Given the description of an element on the screen output the (x, y) to click on. 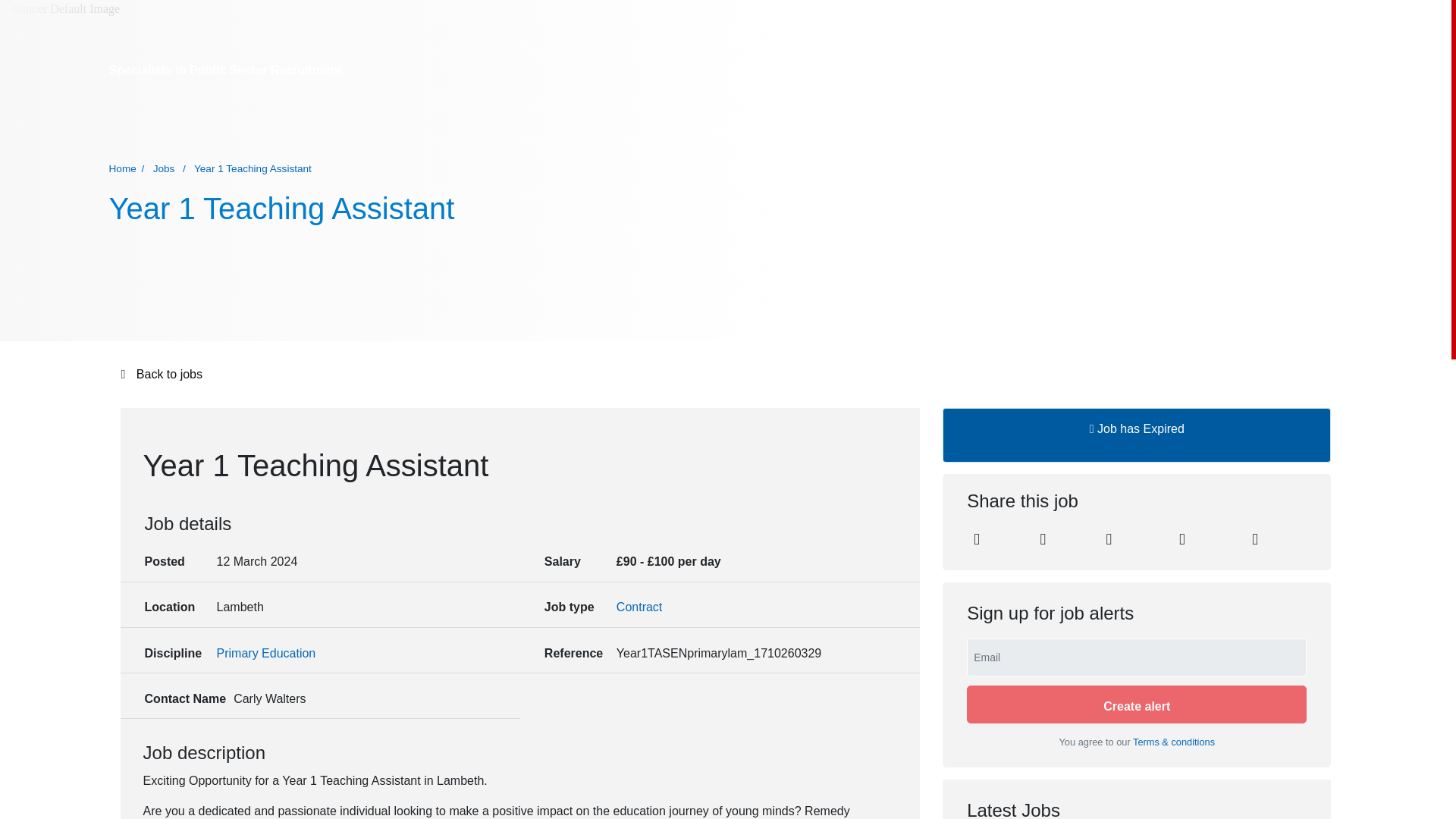
Compliance Team (1176, 127)
Timesheets (1028, 127)
Tweet this (1042, 540)
Contact Us (1094, 127)
Send in Whatsapp (1254, 540)
Clients (922, 127)
020 8418 9441 (1053, 69)
Remedy Recruitment (184, 128)
Go to the Homepage (184, 128)
Email (1182, 540)
LinkedIn (976, 540)
Careers (970, 127)
Share on Facebook (1108, 540)
Latest Jobs (866, 127)
Policies (1249, 127)
